Given the description of an element on the screen output the (x, y) to click on. 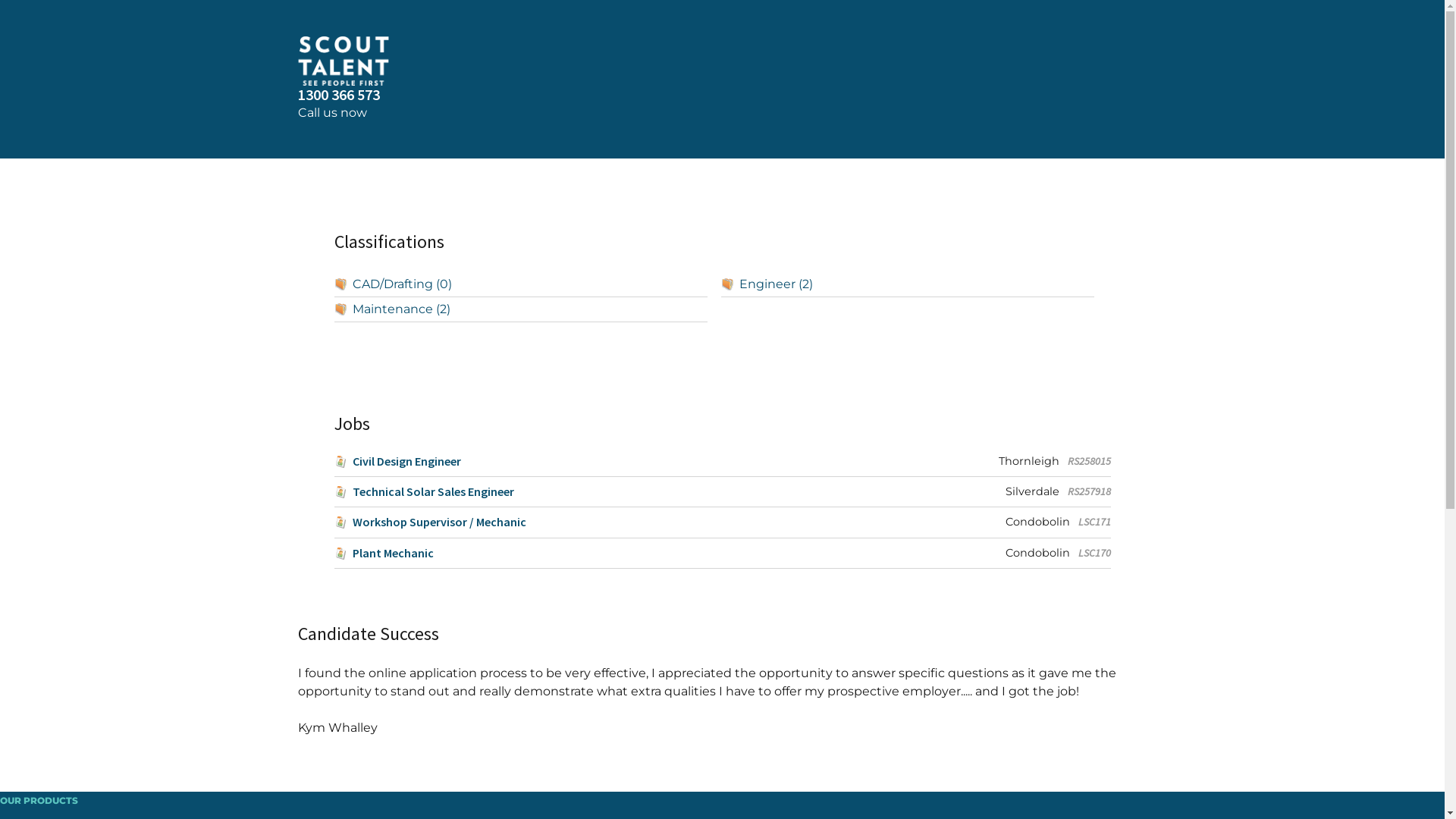
Civil Design Engineer Element type: text (396, 461)
Scout Talent Element type: hover (721, 60)
CAD/Drafting (0) Element type: text (519, 284)
Maintenance (2) Element type: text (519, 309)
Workshop Supervisor / Mechanic Element type: text (429, 521)
Engineer (2) Element type: text (907, 284)
Technical Solar Sales Engineer Element type: text (423, 491)
Plant Mechanic Element type: text (383, 553)
